Given the description of an element on the screen output the (x, y) to click on. 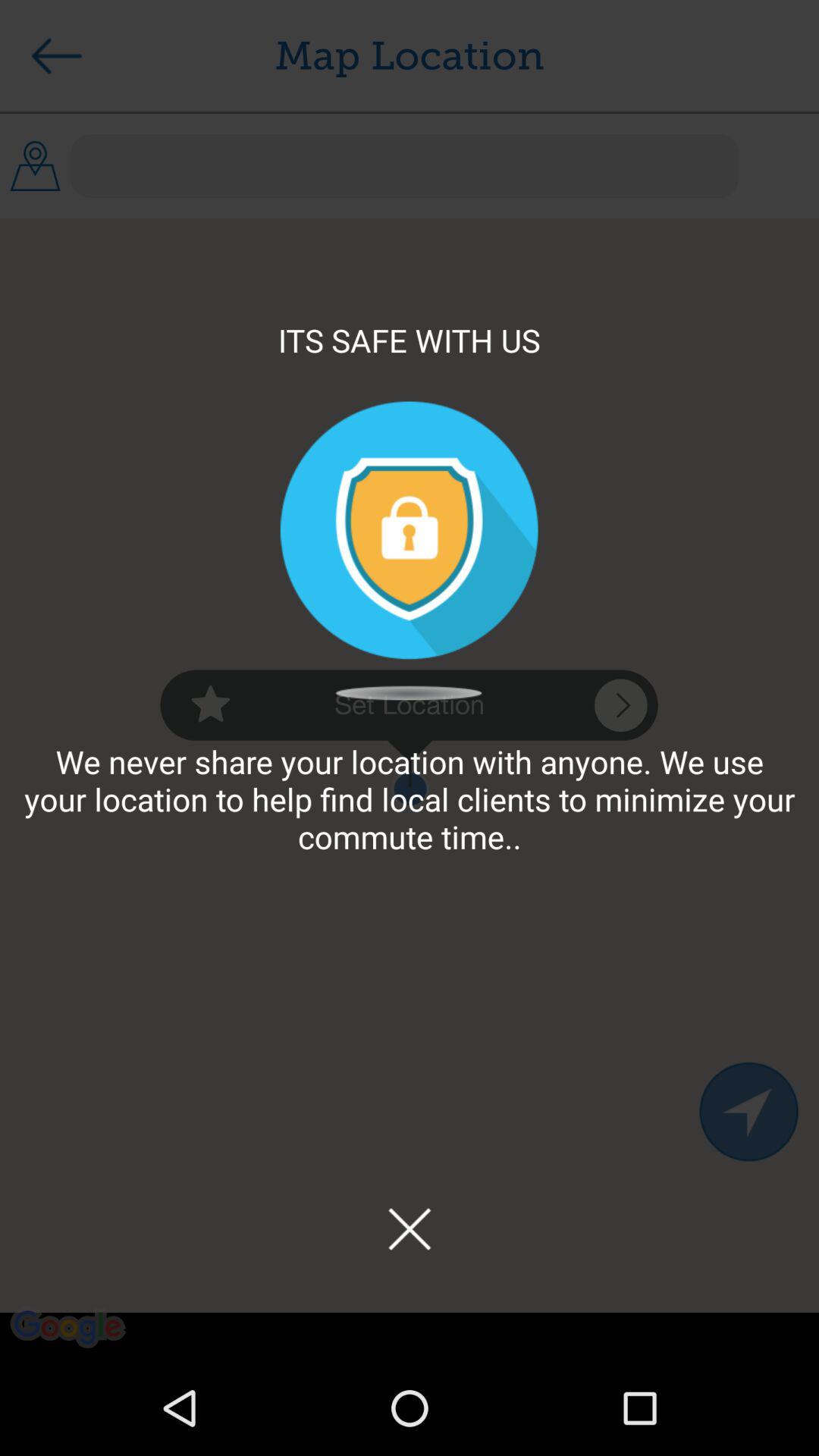
turn on the icon at the bottom (409, 1228)
